Given the description of an element on the screen output the (x, y) to click on. 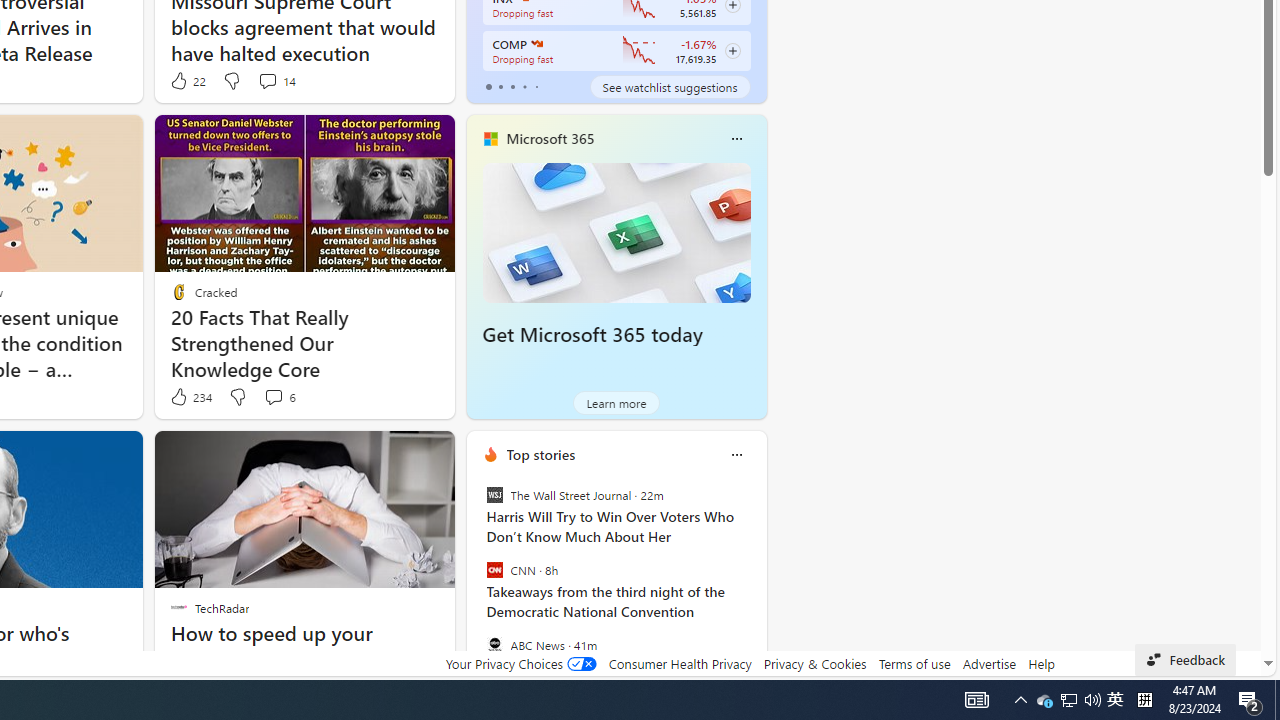
tab-4 (535, 86)
Privacy & Cookies (814, 663)
22 Like (186, 80)
Help (1040, 663)
tab-3 (524, 86)
234 Like (190, 397)
Top stories (540, 454)
NASDAQ (535, 43)
View comments 14 Comment (267, 80)
